Given the description of an element on the screen output the (x, y) to click on. 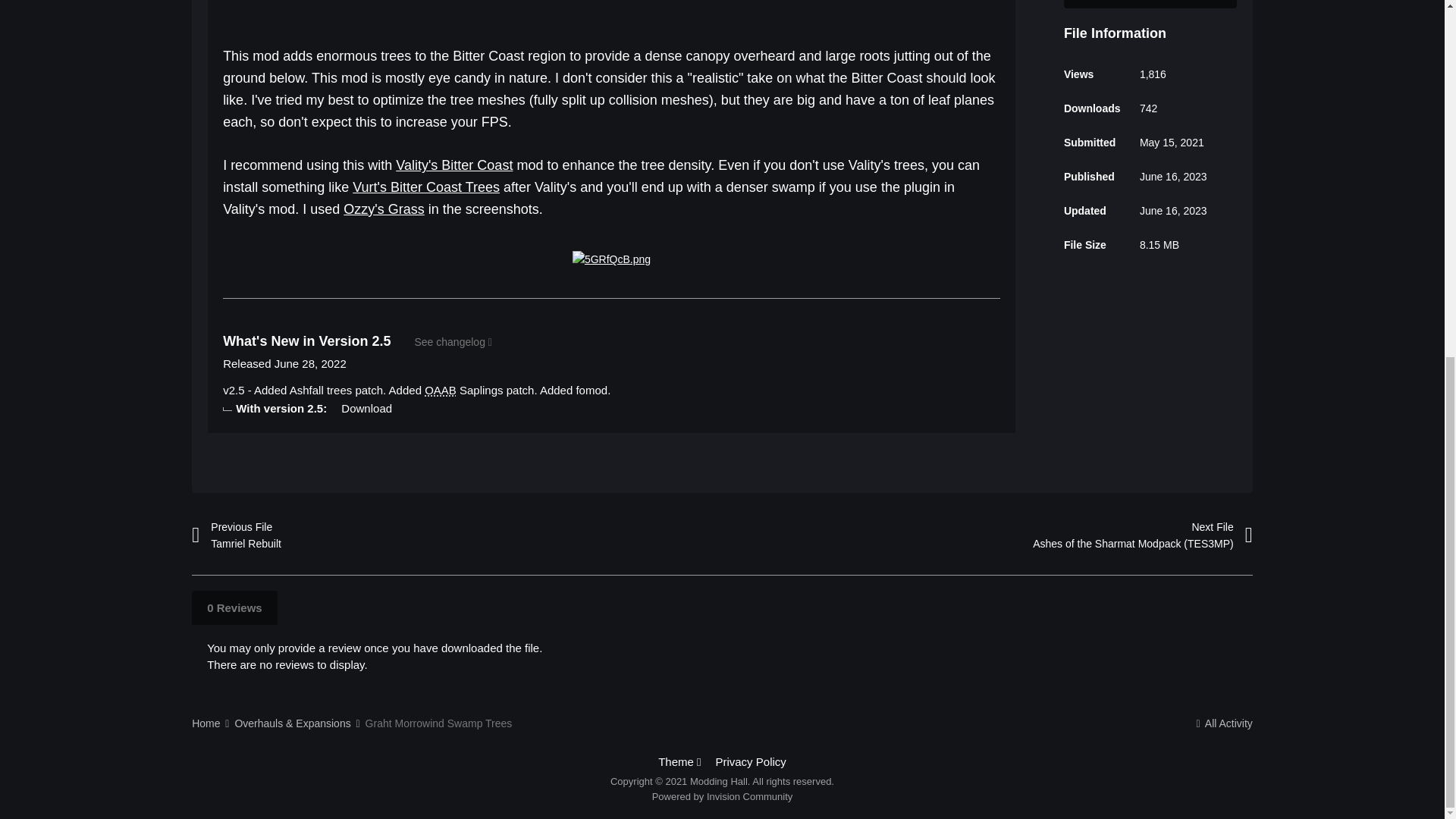
Enlarge image (611, 258)
Of Ash and Blight (441, 390)
See the version history for this file (452, 342)
